Given the description of an element on the screen output the (x, y) to click on. 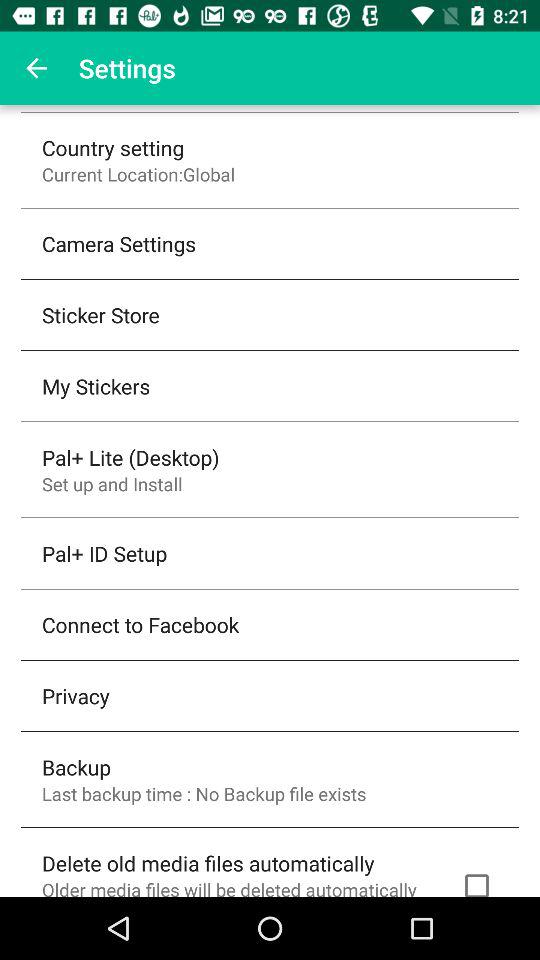
choose the item below the camera settings item (100, 314)
